Given the description of an element on the screen output the (x, y) to click on. 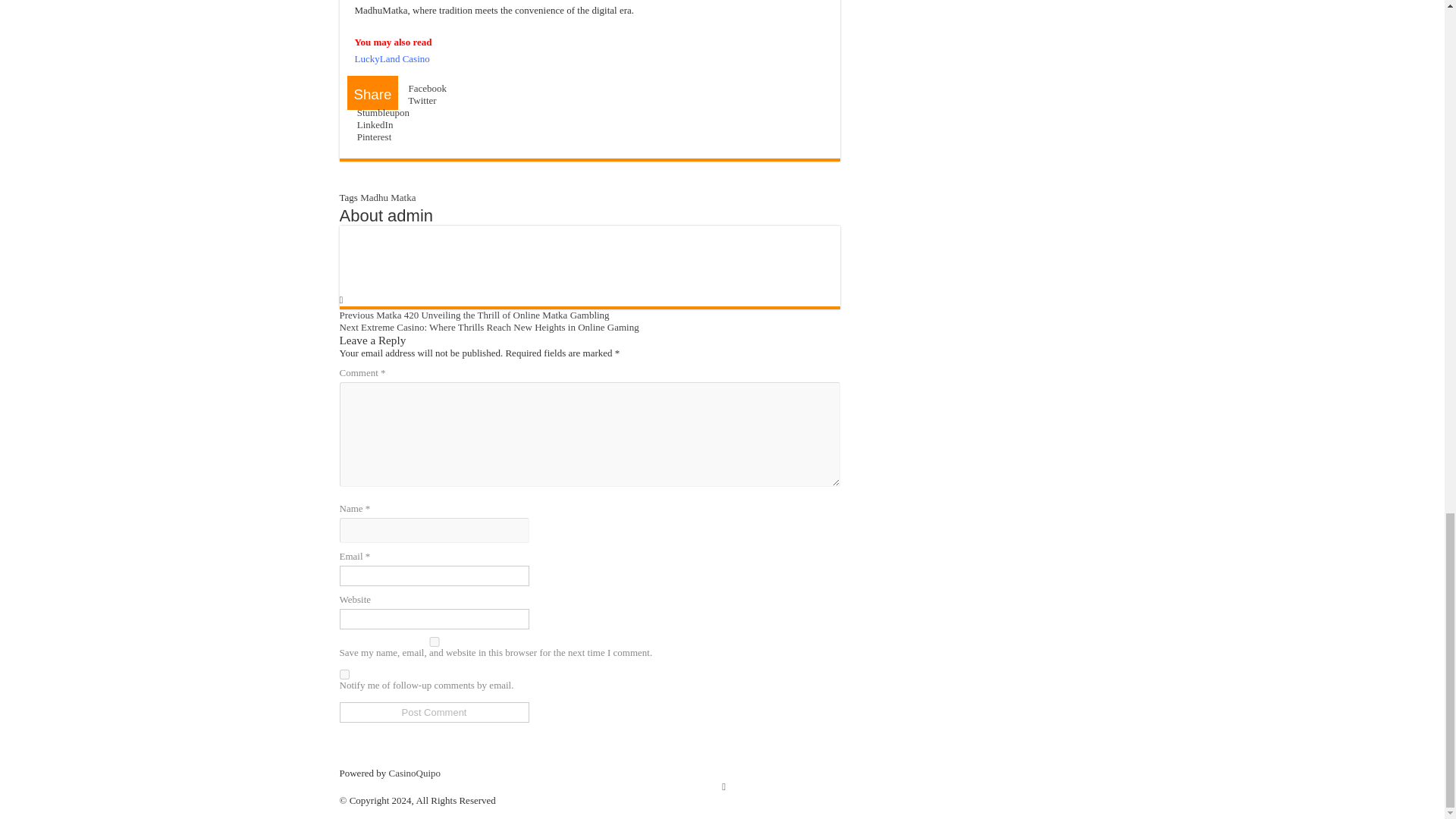
subscribe (344, 674)
Post Comment (434, 711)
yes (434, 642)
